Given the description of an element on the screen output the (x, y) to click on. 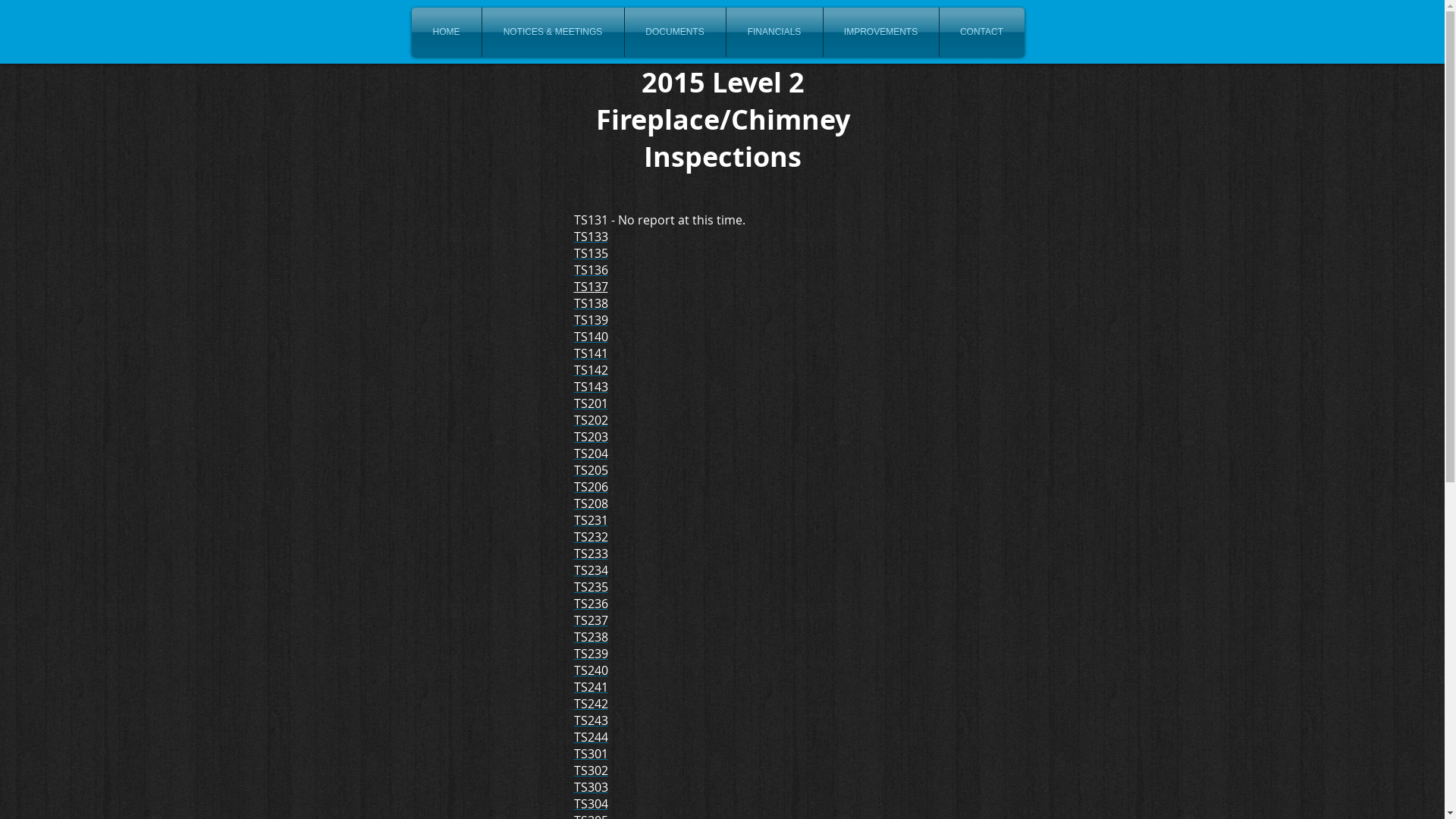
TS143 Element type: text (590, 386)
TS238 Element type: text (590, 636)
TS231 Element type: text (590, 519)
TS135 Element type: text (590, 252)
TS203 Element type: text (590, 436)
TS303 Element type: text (590, 786)
TS133 Element type: text (590, 236)
TS233 Element type: text (590, 553)
TS141 Element type: text (590, 353)
TS240 Element type: text (590, 670)
FINANCIALS Element type: text (774, 31)
TS201 Element type: text (590, 403)
TS136 Element type: text (590, 269)
TS239 Element type: text (590, 653)
TS235 Element type: text (590, 586)
HOME Element type: text (445, 31)
TS301 Element type: text (590, 753)
TS202 Element type: text (590, 419)
TS205 Element type: text (590, 469)
TS304 Element type: text (590, 803)
TS208 Element type: text (590, 503)
TS237 Element type: text (590, 619)
TS234 Element type: text (590, 569)
NOTICES & MEETINGS Element type: text (553, 31)
TS241 Element type: text (590, 686)
TS242 Element type: text (590, 703)
TS140 Element type: text (590, 336)
TS243 Element type: text (590, 720)
TS232 Element type: text (590, 536)
TS206 Element type: text (590, 486)
TS139 Element type: text (590, 319)
IMPROVEMENTS Element type: text (880, 31)
CONTACT Element type: text (980, 31)
TS302 Element type: text (590, 770)
TS142 Element type: text (590, 369)
TS138 Element type: text (590, 302)
TS236 Element type: text (590, 603)
TS244 Element type: text (590, 736)
DOCUMENTS Element type: text (674, 31)
TS137 Element type: text (590, 286)
TS204 Element type: text (590, 453)
